Given the description of an element on the screen output the (x, y) to click on. 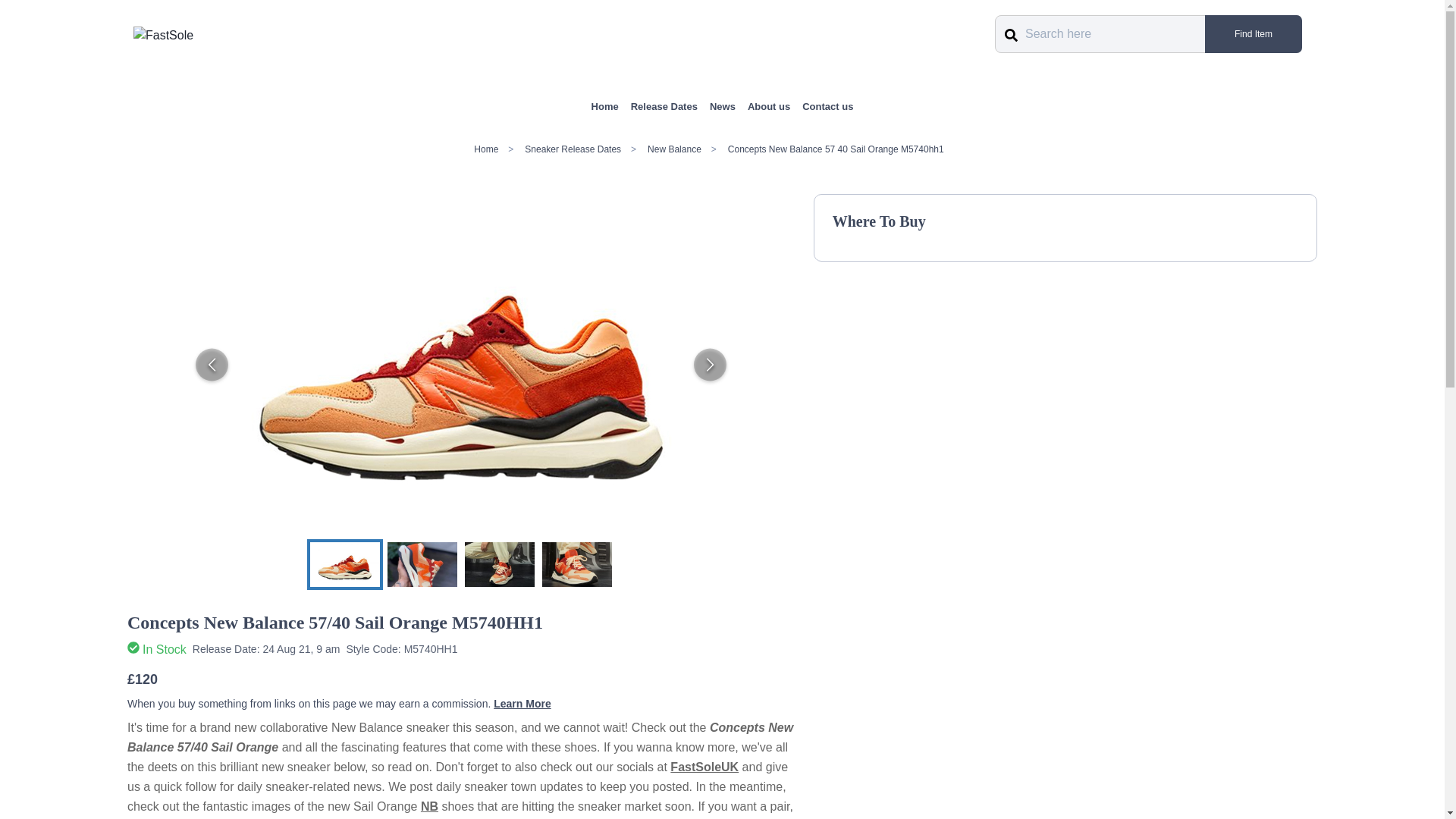
Release Dates (663, 106)
FastSole (163, 35)
Find Item (1253, 34)
Concepts New Balance 5740 Sail Orange on foot 01 (576, 563)
Concepts New Balance 5740 Sail Orange 01 (422, 563)
Concepts New Balance 5740 Sail Orange on foot 02 (499, 563)
Home (604, 106)
